Given the description of an element on the screen output the (x, y) to click on. 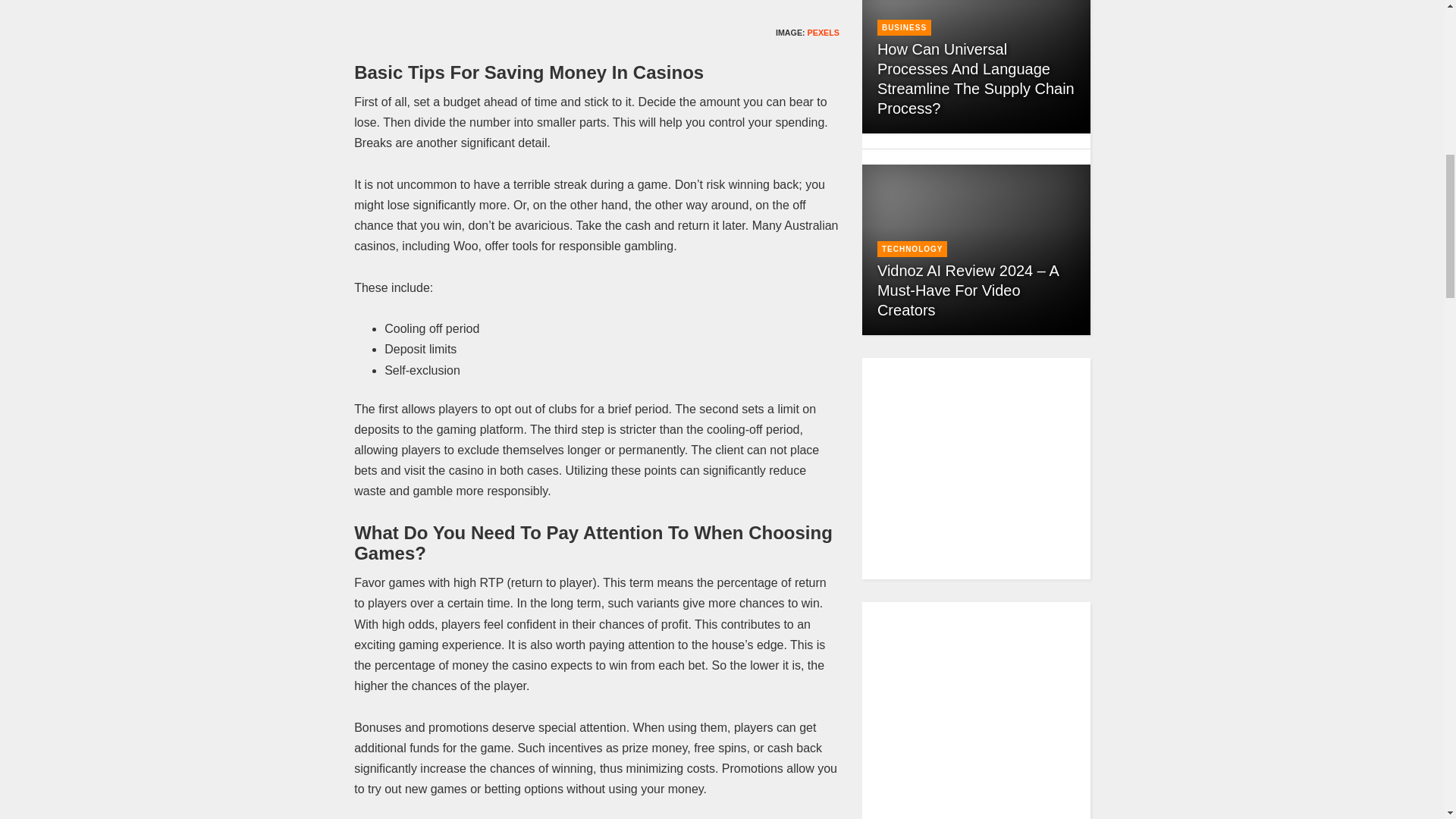
PEXELS (824, 31)
